Given the description of an element on the screen output the (x, y) to click on. 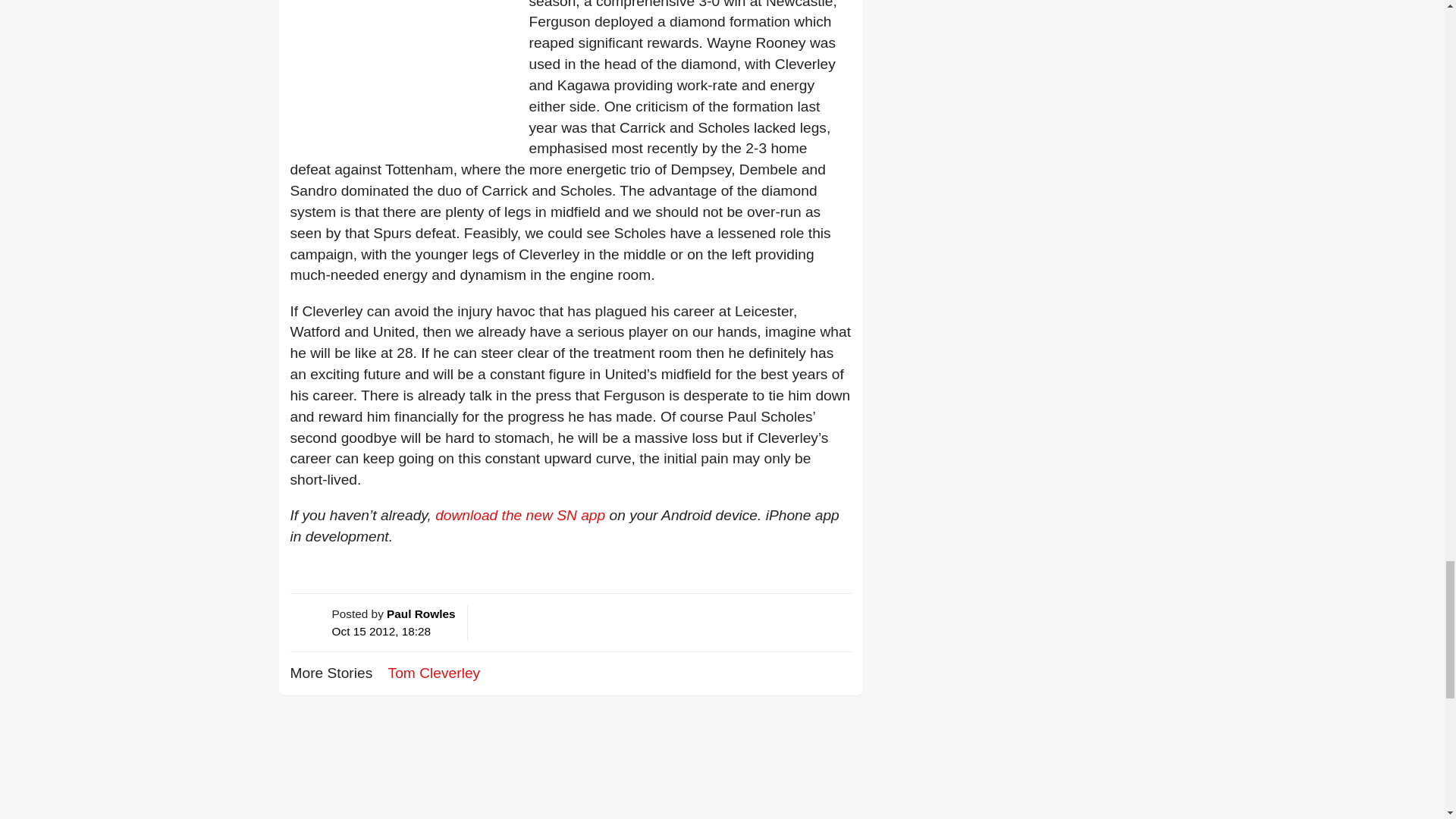
Paul Rowles (420, 613)
Tom Cleverley (434, 672)
download the new SN app (520, 514)
Oct 15 2012, 18:28 (380, 631)
